Given the description of an element on the screen output the (x, y) to click on. 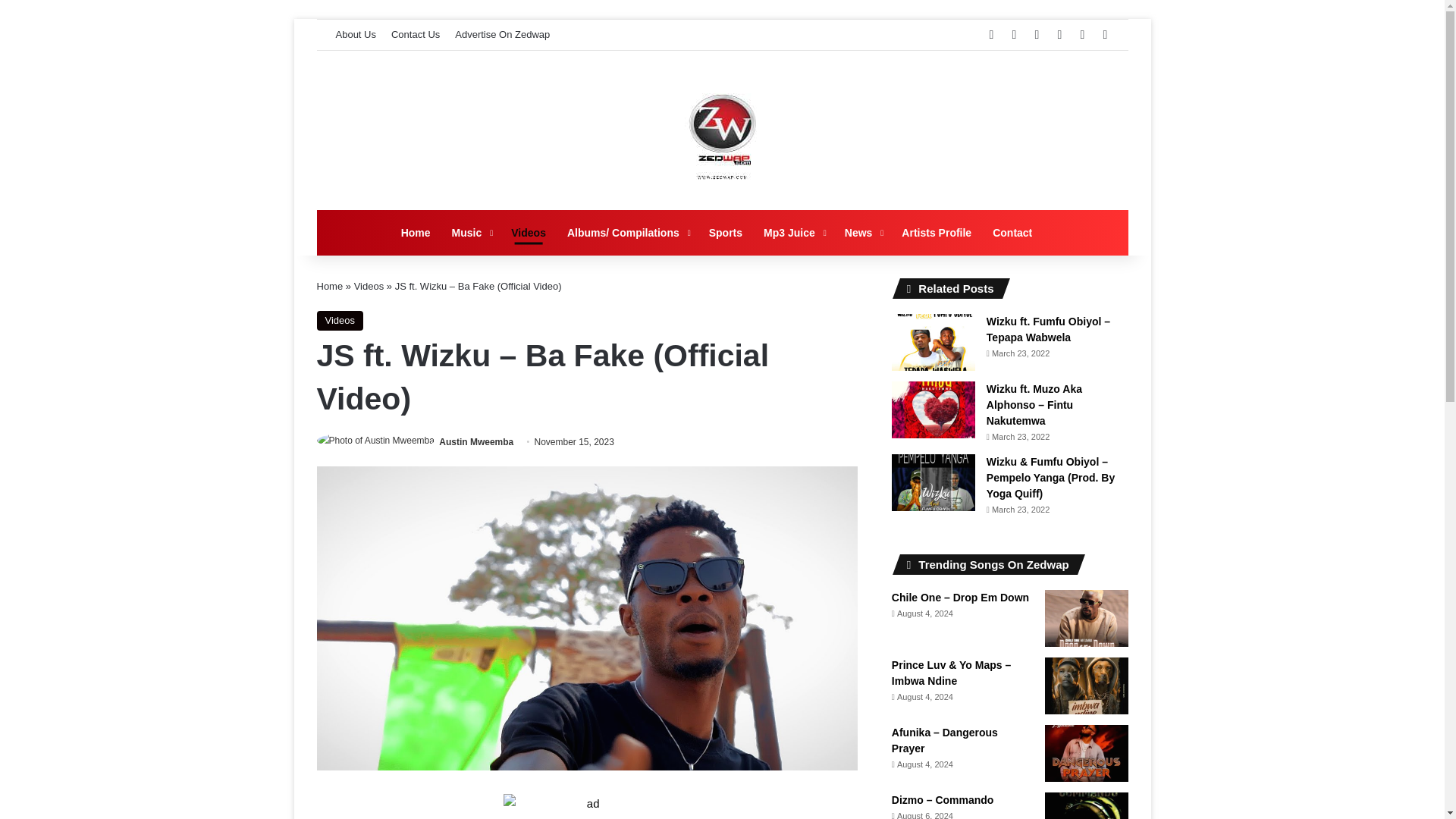
Videos (528, 232)
Advertise On Zedwap (501, 34)
Artists Profile (936, 232)
Videos (368, 285)
Videos (340, 320)
About Us (354, 34)
Sports (725, 232)
Music (470, 232)
Home (330, 285)
Home (415, 232)
